Given the description of an element on the screen output the (x, y) to click on. 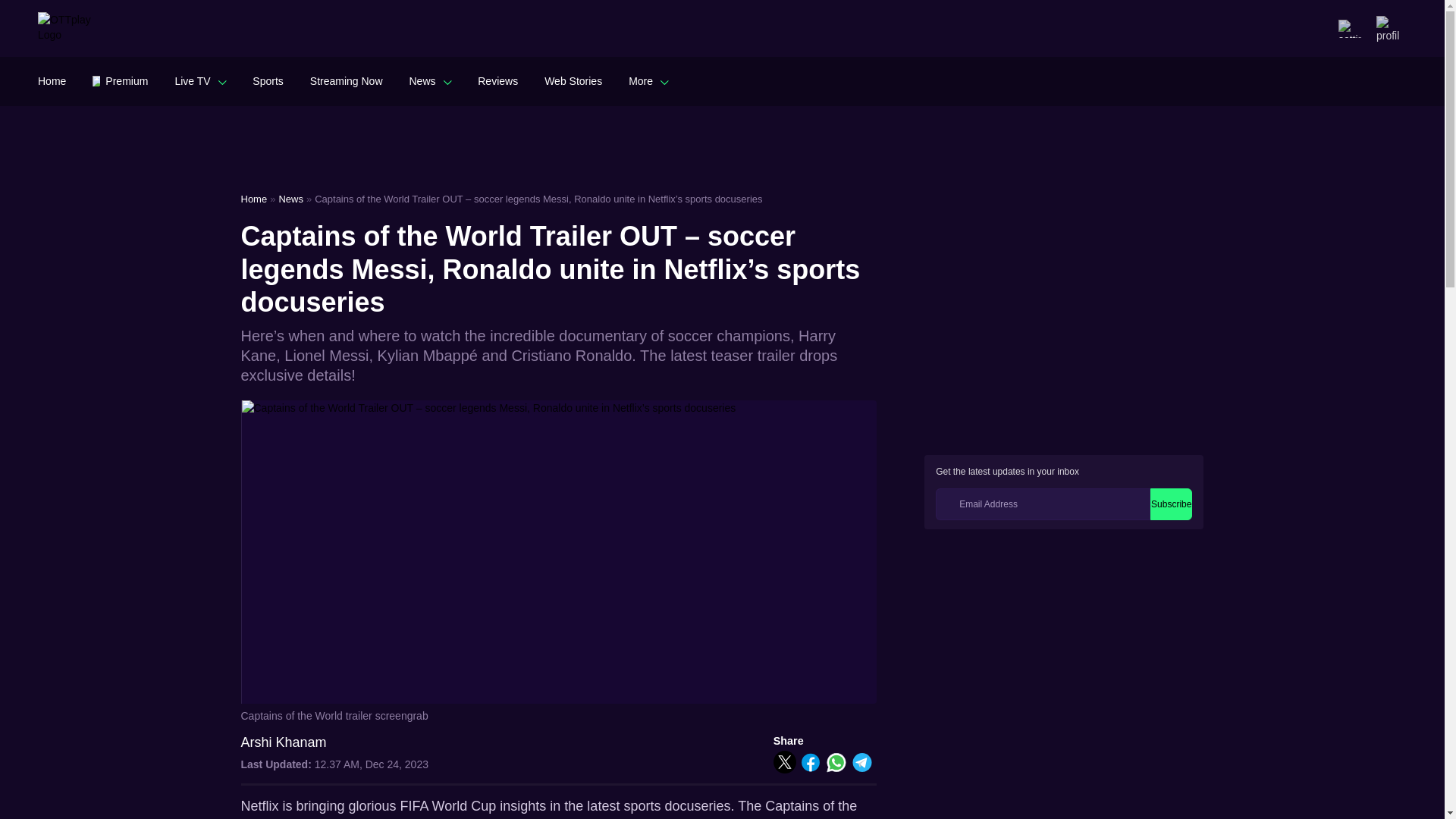
News (430, 80)
Streaming Now (346, 80)
Premium (120, 80)
Live TV (199, 80)
Web Stories (573, 80)
